Given the description of an element on the screen output the (x, y) to click on. 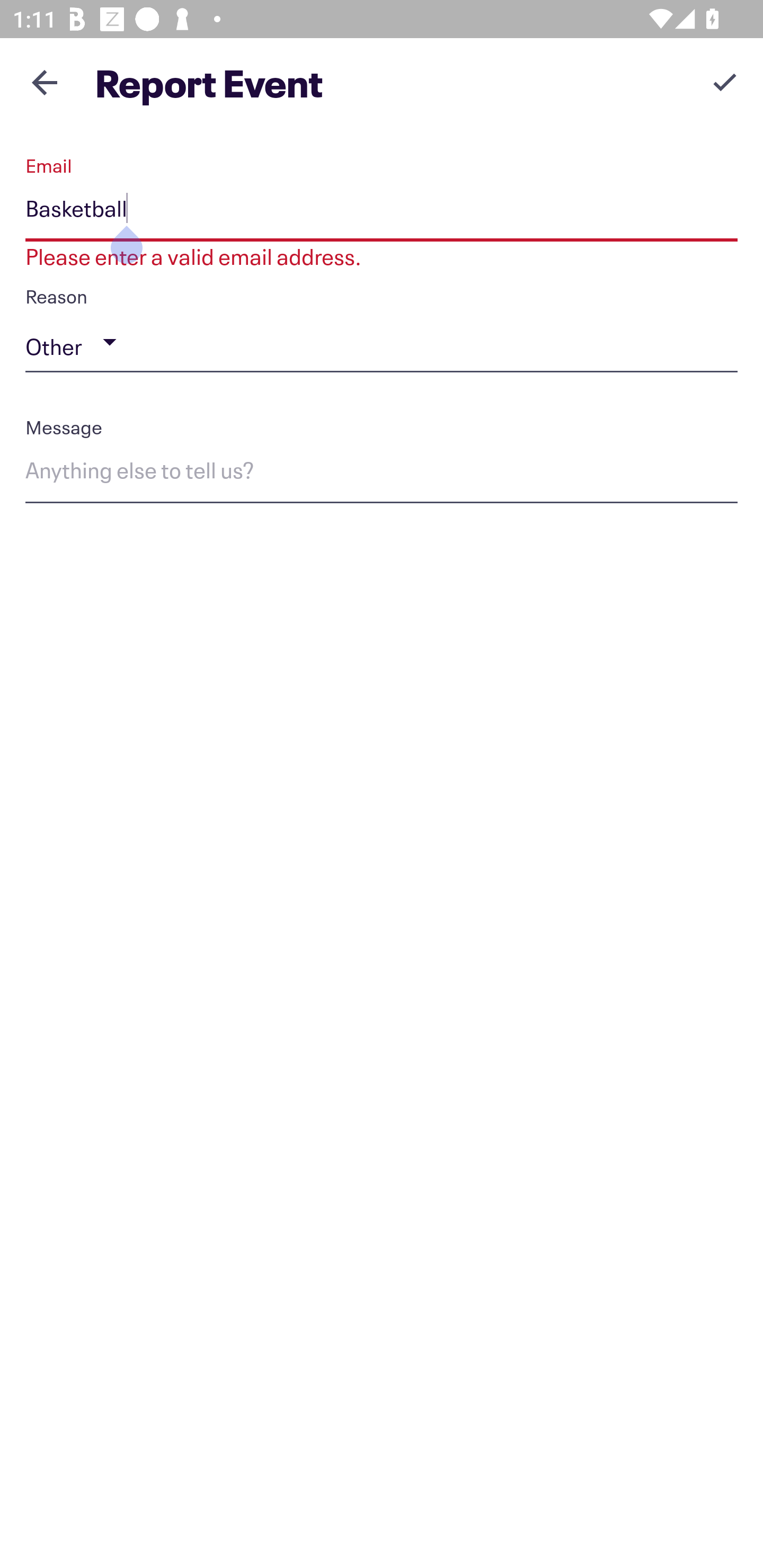
Navigate up (44, 82)
Save (724, 81)
Basketball (381, 211)
Other    (381, 342)
Anything else to tell us? (381, 473)
